Given the description of an element on the screen output the (x, y) to click on. 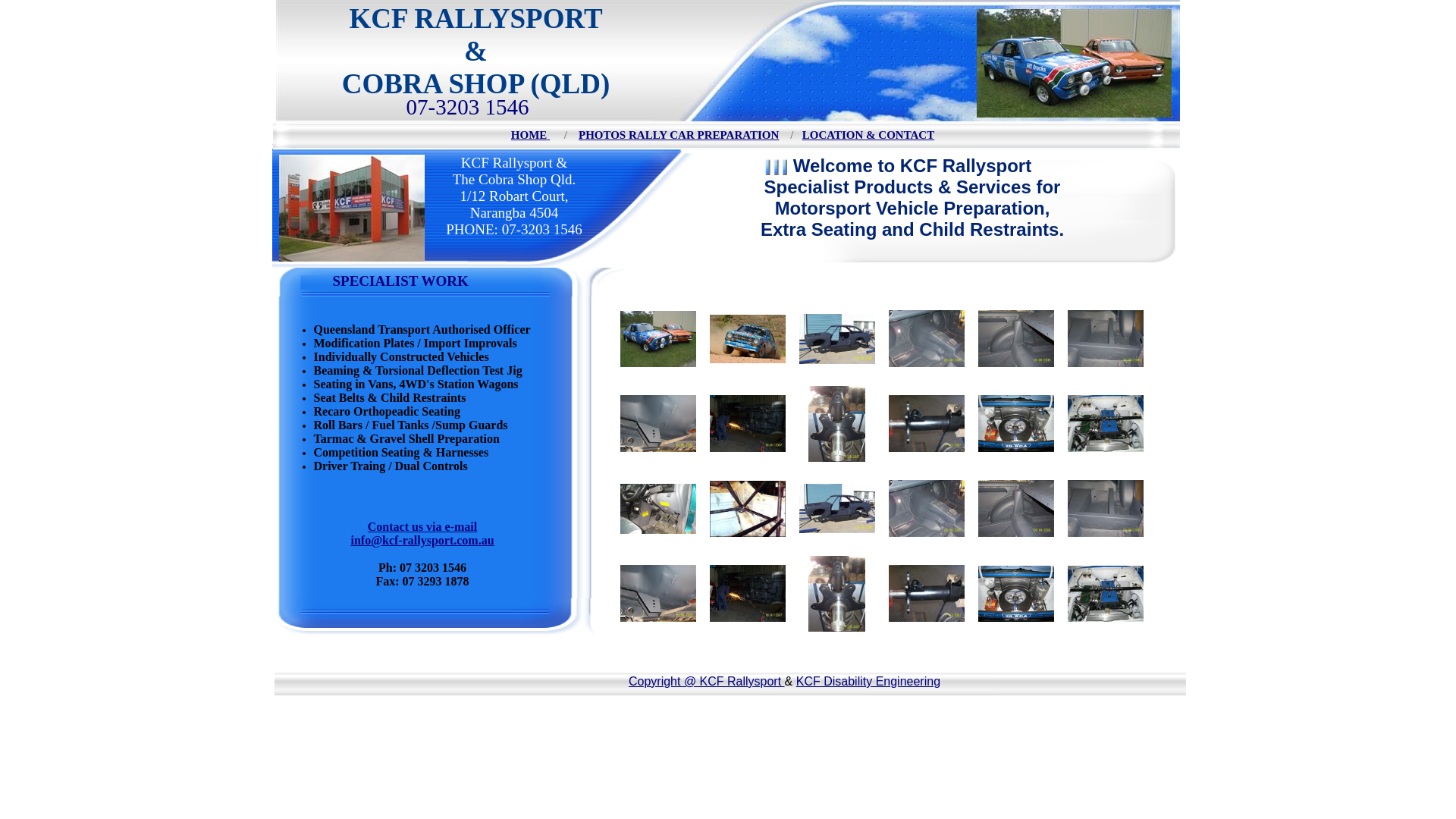
PHOTOS RALLY CAR PREPARATION Element type: text (678, 134)
Rally Vehicle Preparation Specialist Element type: hover (725, 205)
KCF Disability Engineering Element type: text (868, 680)
Rally Vehicle Preparation Specialist Element type: hover (431, 620)
Rally Vehicle Preparation Specialist Element type: hover (775, 166)
Rally Vehicle Preparation Specialist Element type: hover (454, 278)
Rally Vehicle Preparation Specialist Element type: hover (730, 682)
Rally Vehicle Preparation Specialist Element type: hover (726, 135)
LOCATION & CONTACT Element type: text (868, 134)
Copyright @ KCF Rallysport Element type: text (706, 680)
KCF Rallysport Home Page Element type: hover (547, 134)
info@kcf-rallysport.com.au Element type: text (421, 539)
HOME Element type: text (529, 134)
Rally Vehicle Preparation Specialist Element type: hover (431, 447)
Rally Vehicle Preparation Specialist Element type: hover (351, 207)
Rally Vehicle Preparation Specialist Element type: hover (727, 60)
Contact us via e-mail Element type: text (421, 526)
Rally Vehicle Preparation Specialist Element type: hover (1073, 63)
